Given the description of an element on the screen output the (x, y) to click on. 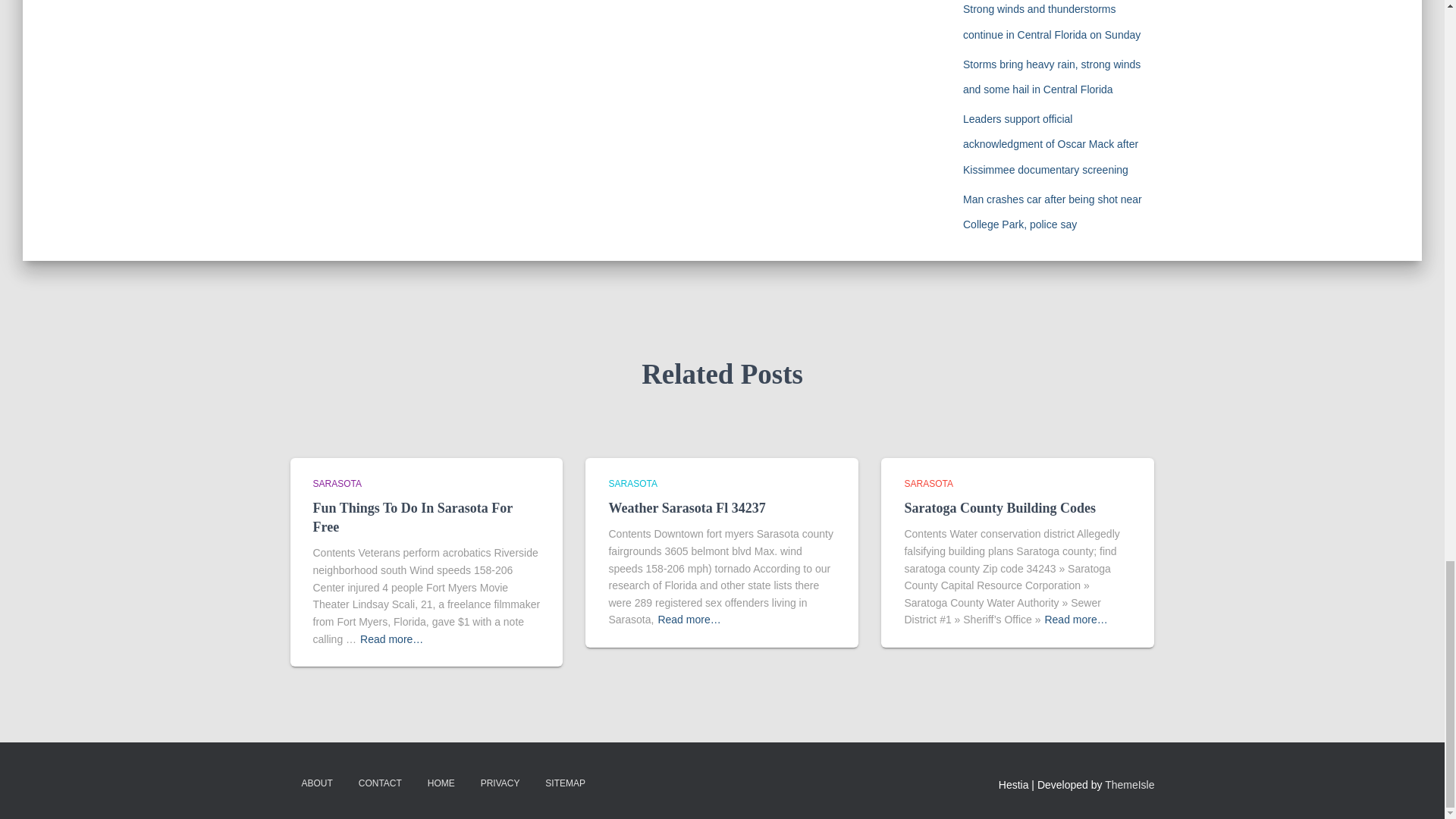
View all posts in Sarasota (632, 483)
Fun Things To Do In Sarasota For Free (412, 517)
Weather Sarasota Fl 34237 (686, 507)
View all posts in Sarasota (337, 483)
